Given the description of an element on the screen output the (x, y) to click on. 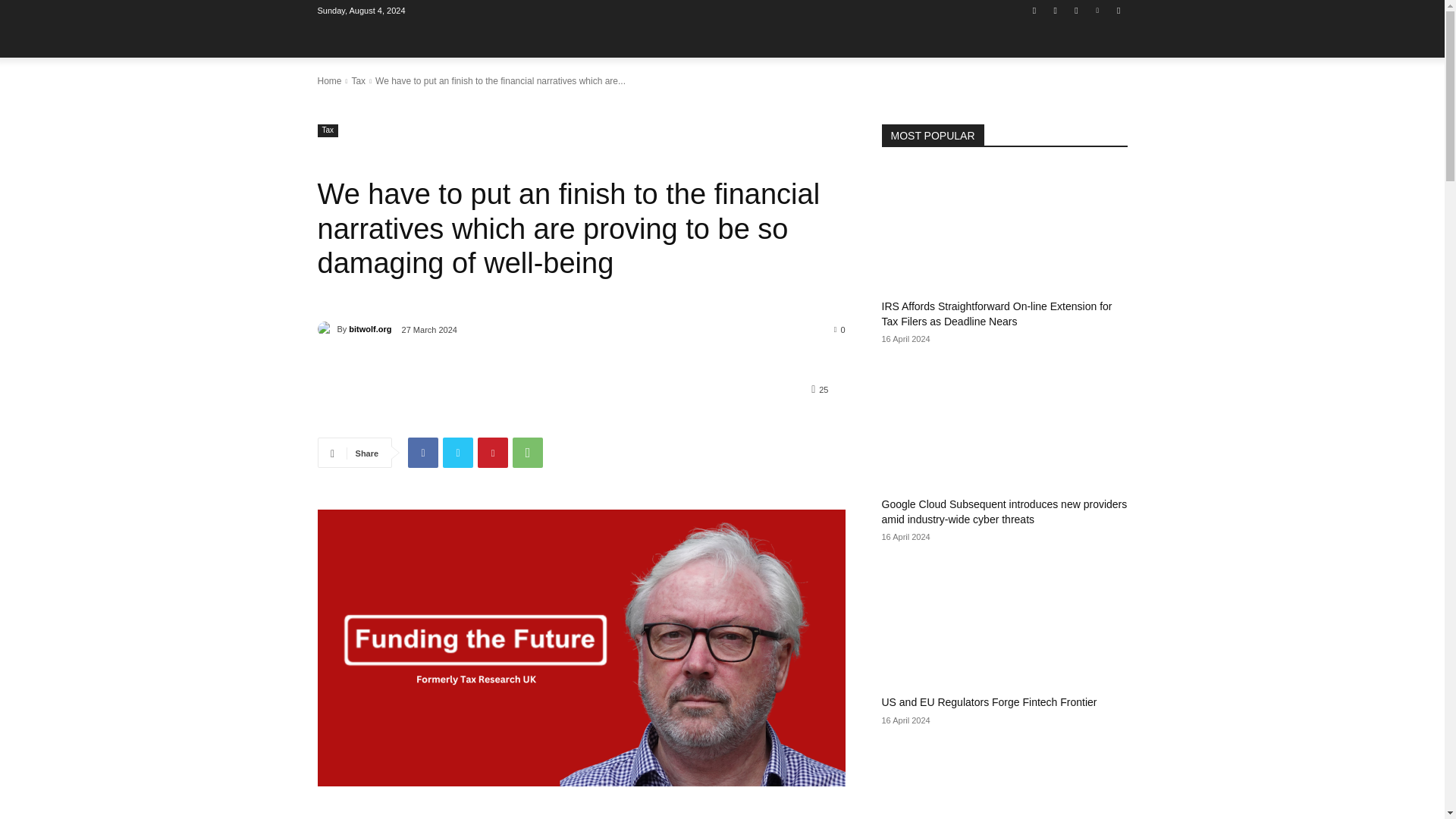
Tax (327, 130)
bitwolf.org (326, 328)
Twitter (1075, 9)
Youtube (1117, 9)
Facebook (422, 452)
Pinterest (492, 452)
Instagram (1055, 9)
View all posts in Tax (357, 81)
Twitter (457, 452)
Vimeo (1097, 9)
Home (328, 81)
Tax (357, 81)
Facebook (1034, 9)
